Given the description of an element on the screen output the (x, y) to click on. 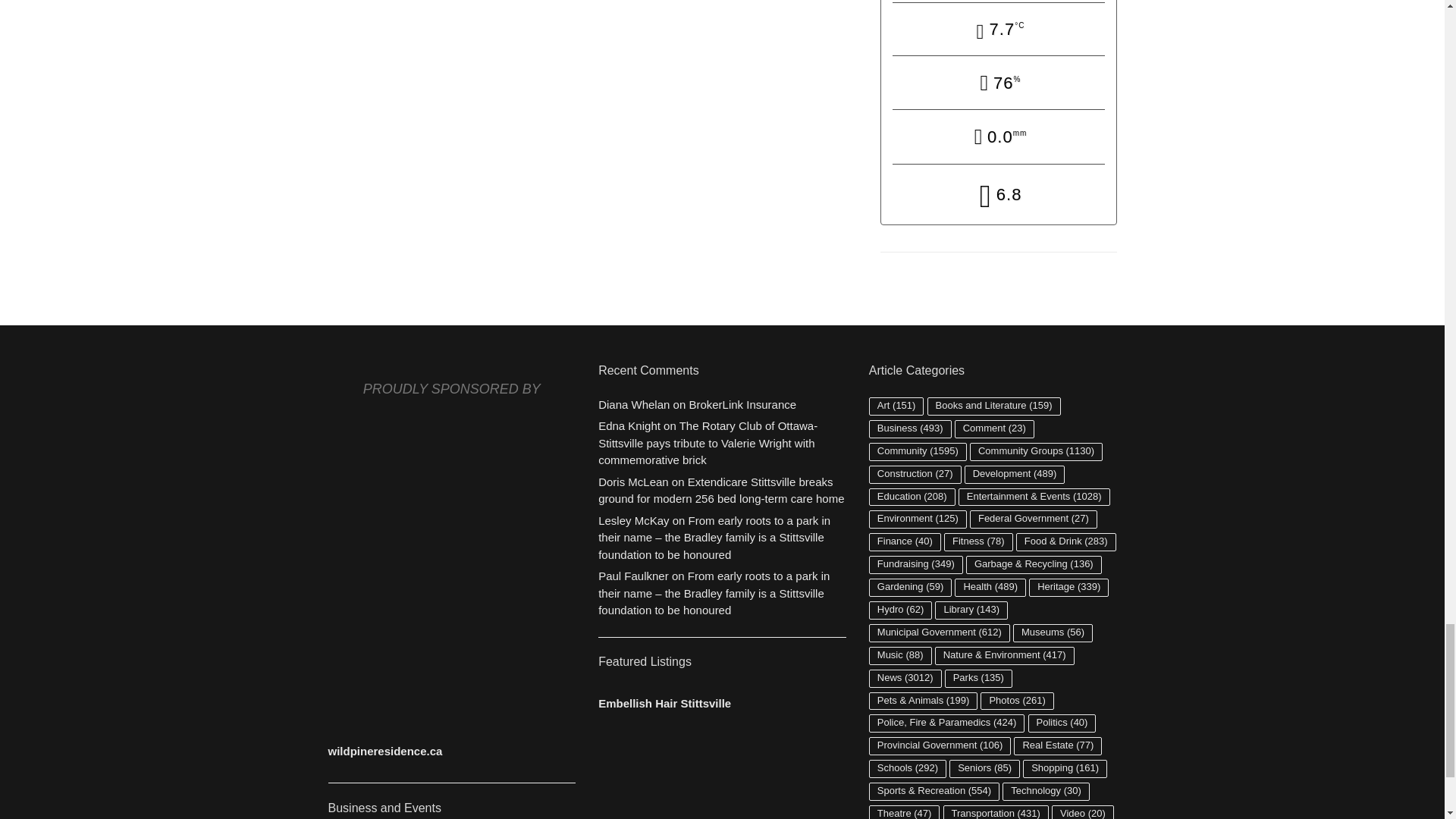
Relative humidity (998, 83)
Temperature (998, 30)
Wind chill (998, 195)
Rainfall (998, 137)
